Given the description of an element on the screen output the (x, y) to click on. 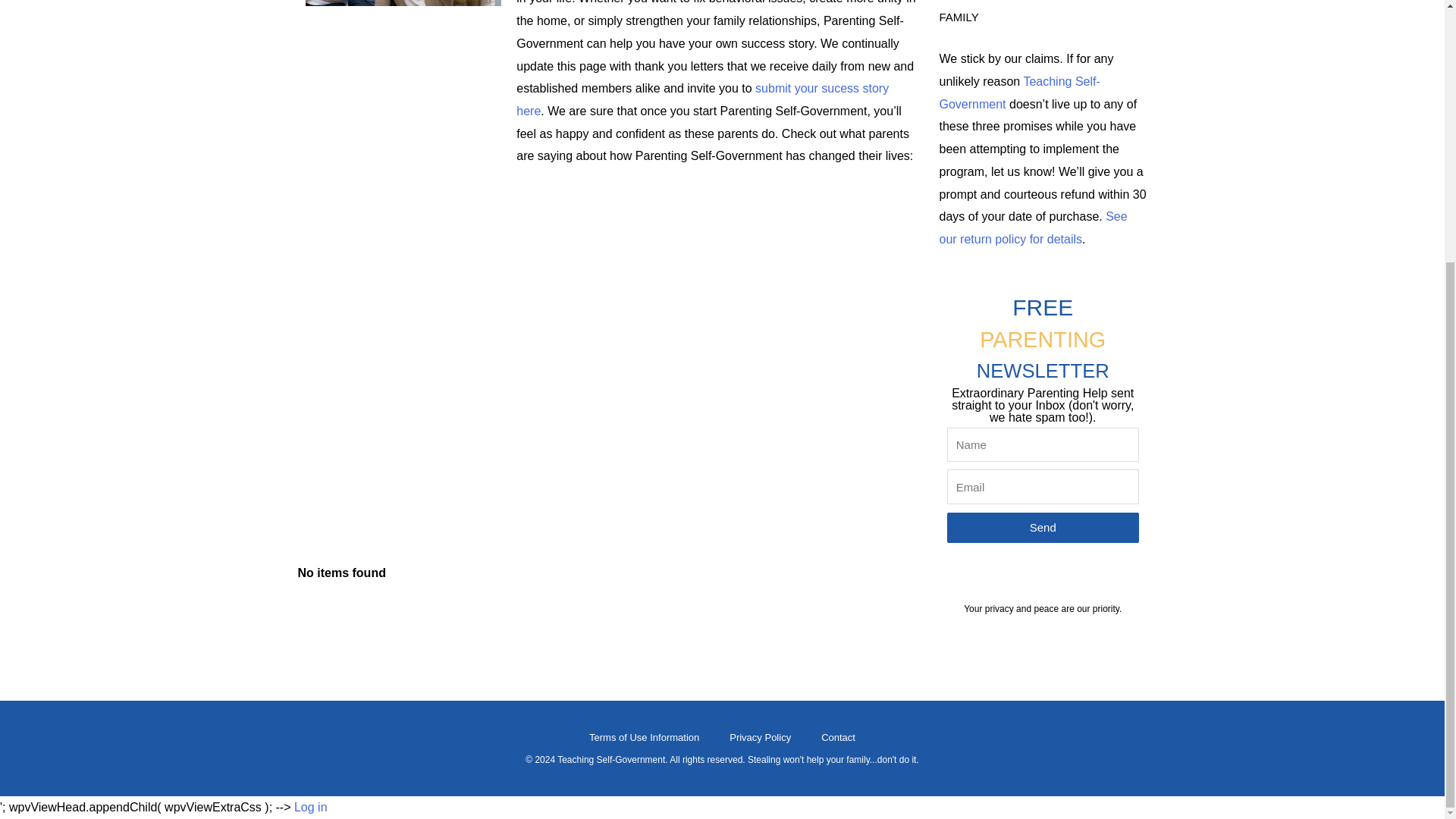
submit your sucess story here (702, 99)
Send (1042, 527)
Privacy Policy (760, 737)
See our return policy for details (1032, 227)
Contact (838, 737)
Terms of Use Information (643, 737)
Teaching Self-Government (1019, 92)
Your privacy and peace are our priority. (1042, 608)
